Given the description of an element on the screen output the (x, y) to click on. 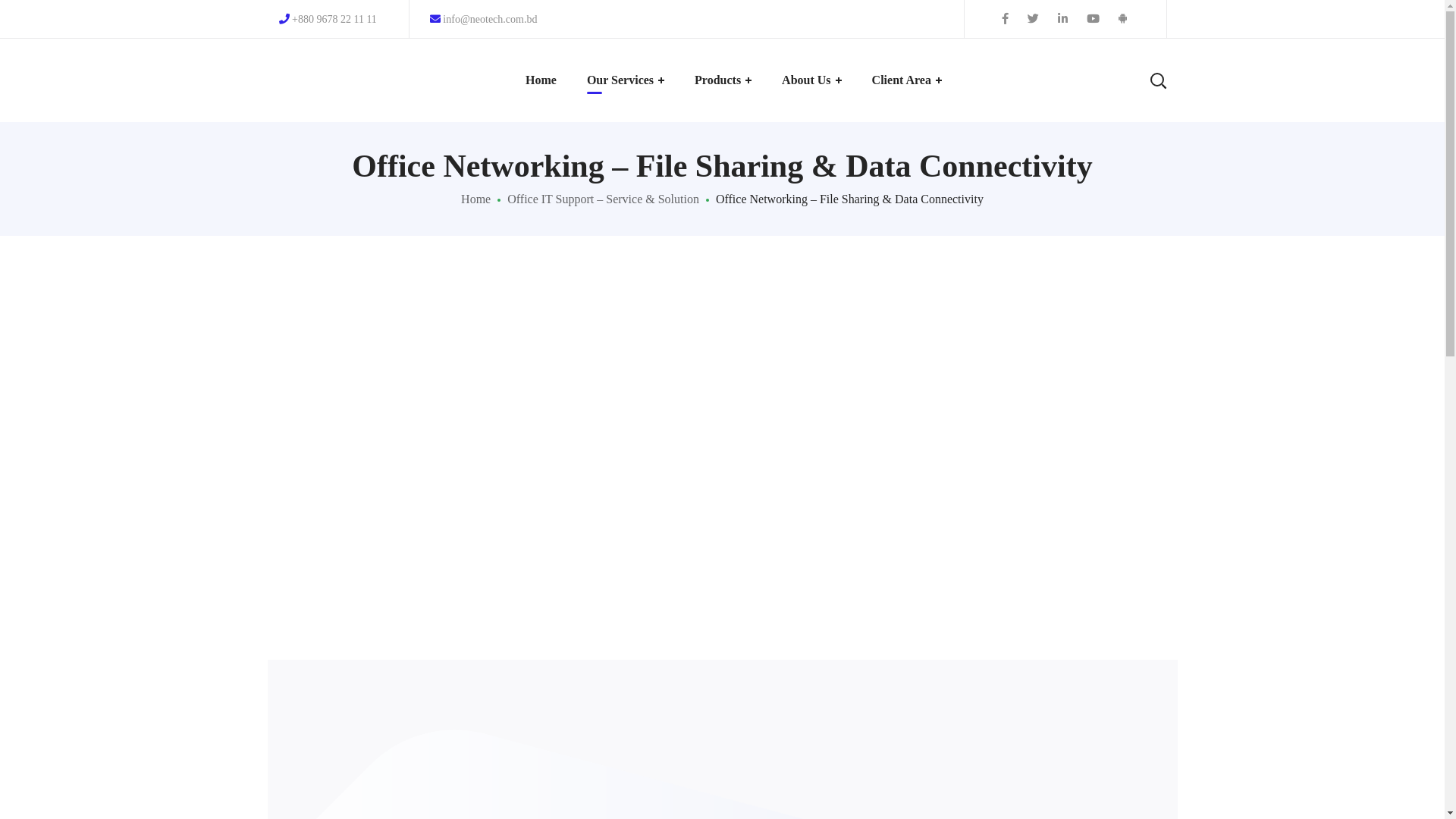
About Us Element type: text (811, 80)
Search Element type: text (1110, 152)
Client Area Element type: text (906, 80)
info@neotech.com.bd Element type: text (483, 19)
Products Element type: text (722, 80)
Search Element type: text (1110, 30)
Our Services Element type: text (625, 80)
+880 9678 22 11 11 Element type: text (327, 19)
Home Element type: text (540, 80)
Home Element type: text (475, 198)
